Given the description of an element on the screen output the (x, y) to click on. 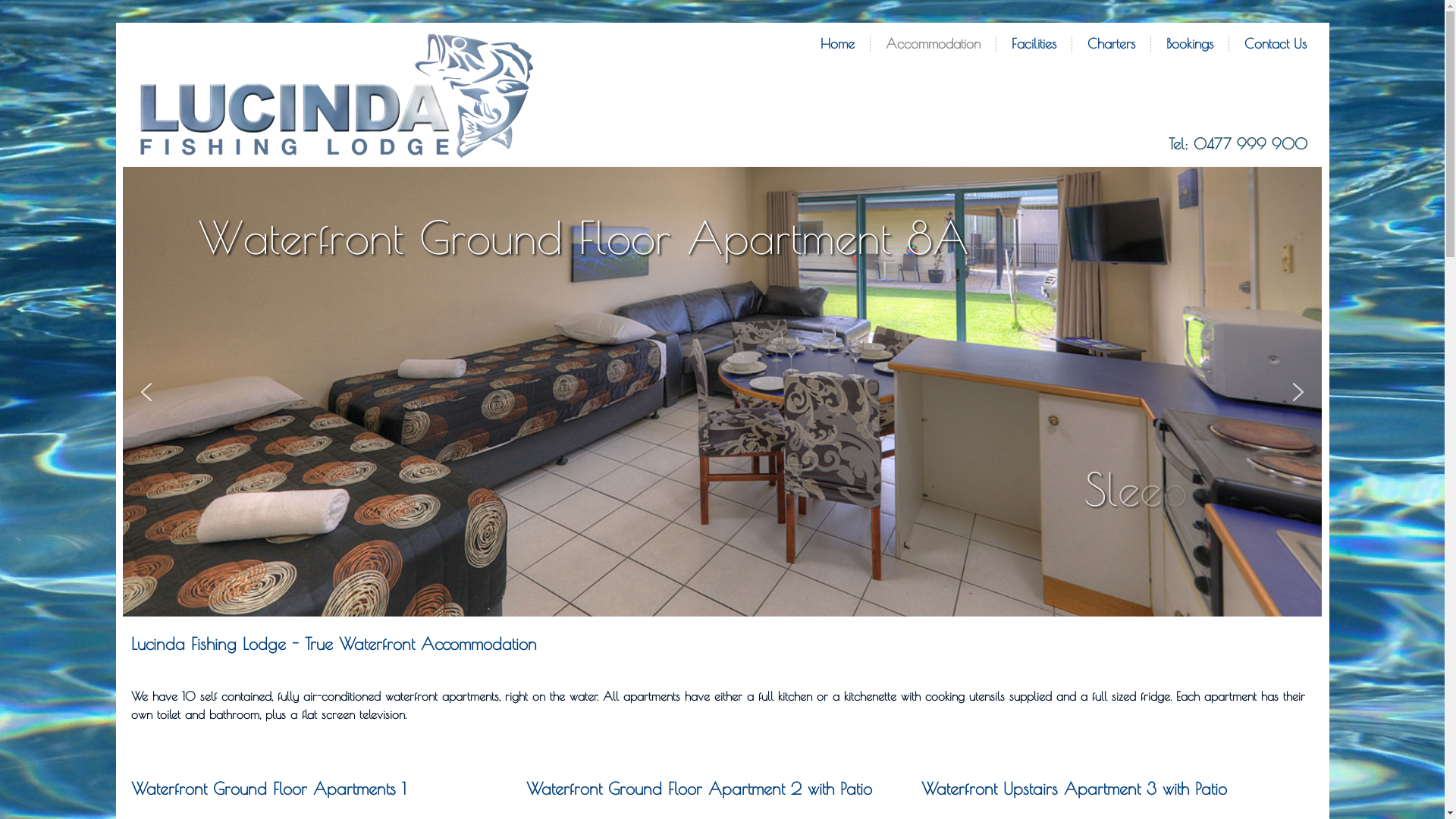
Facilities Element type: text (1032, 43)
Accommodation Element type: text (932, 43)
Bookings Element type: text (1188, 43)
Waterfront Ground Floor Apartment Element type: text (721, 391)
Charters Element type: text (1110, 43)
Home Element type: text (836, 43)
Contact Us Element type: text (1275, 43)
